Given the description of an element on the screen output the (x, y) to click on. 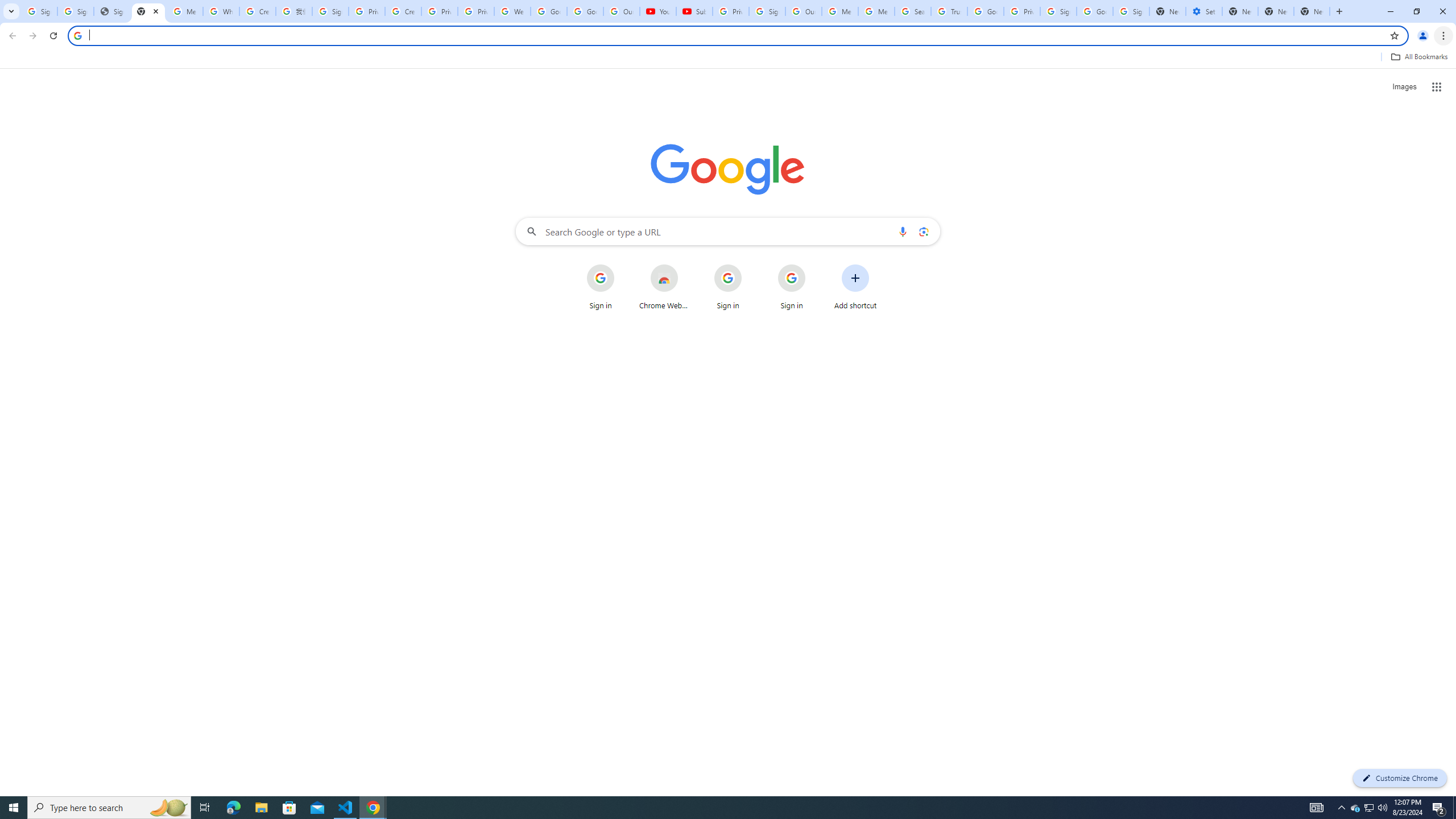
Sign in - Google Accounts (39, 11)
Google Account (585, 11)
